Given the description of an element on the screen output the (x, y) to click on. 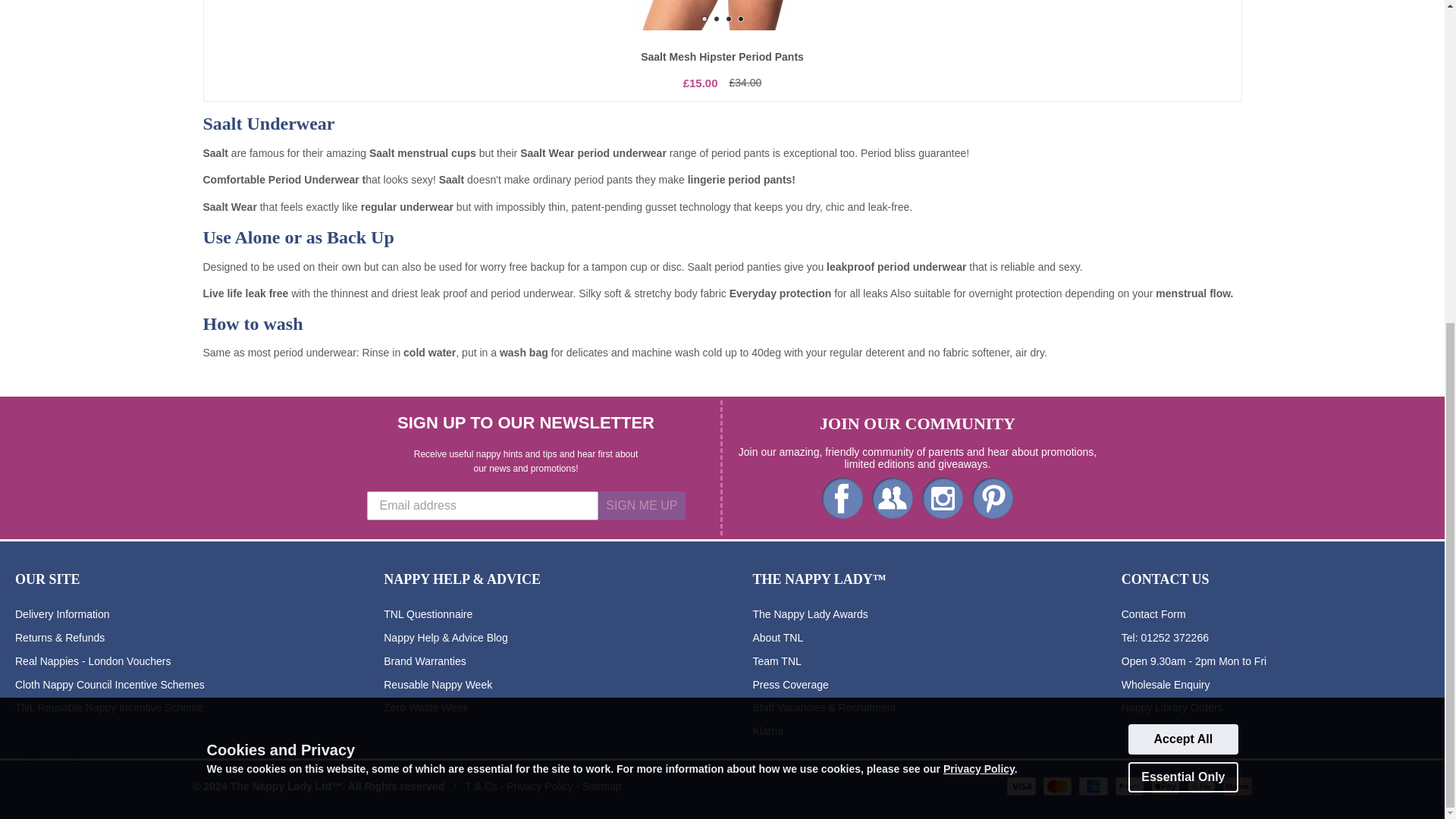
Join our Facebook community (892, 497)
Discover us on Pinterest (992, 497)
Follow our Facebook page (842, 497)
Follow us on Instagram (941, 497)
